Given the description of an element on the screen output the (x, y) to click on. 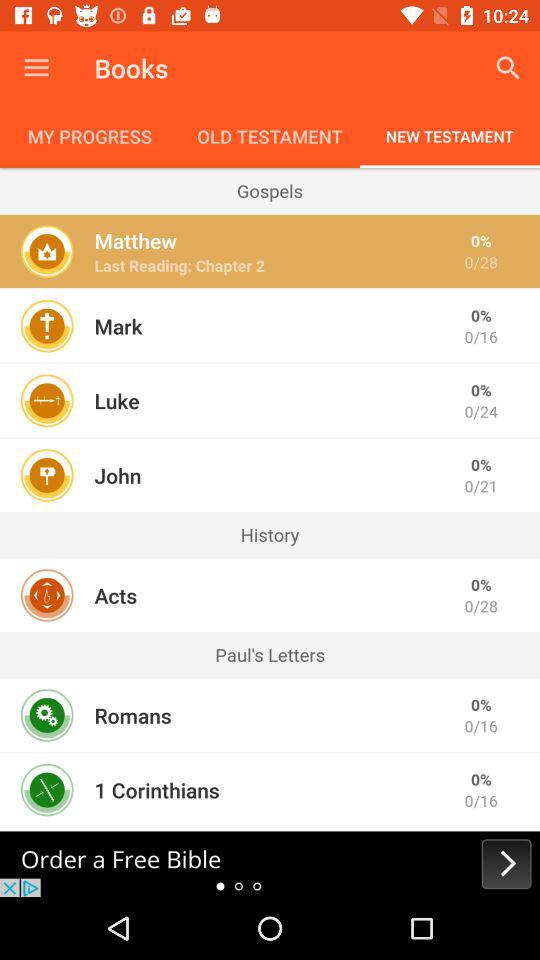
launch the romans (132, 715)
